Given the description of an element on the screen output the (x, y) to click on. 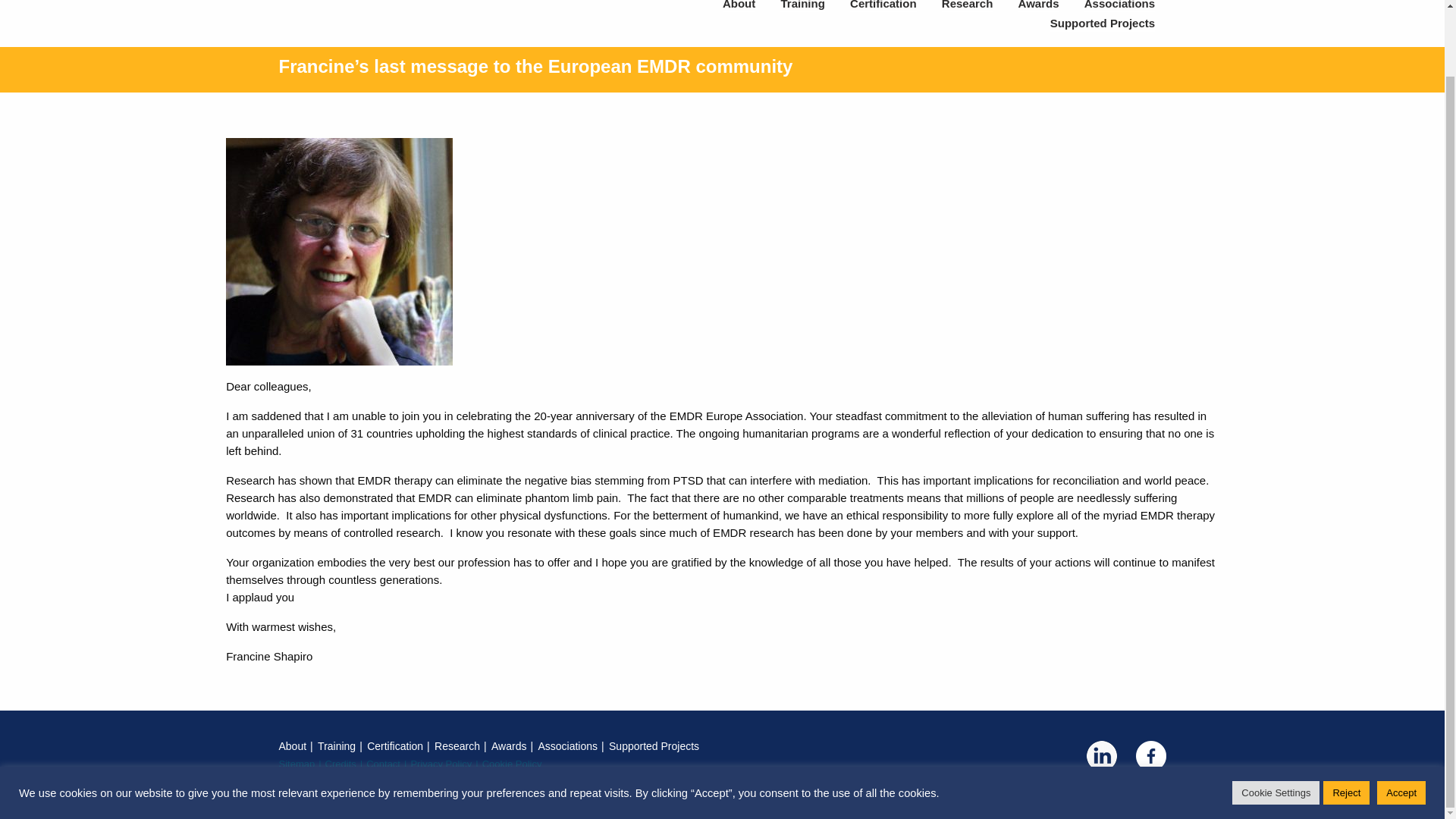
Facebook (1150, 756)
Linkedin (1101, 756)
About (738, 6)
